Given the description of an element on the screen output the (x, y) to click on. 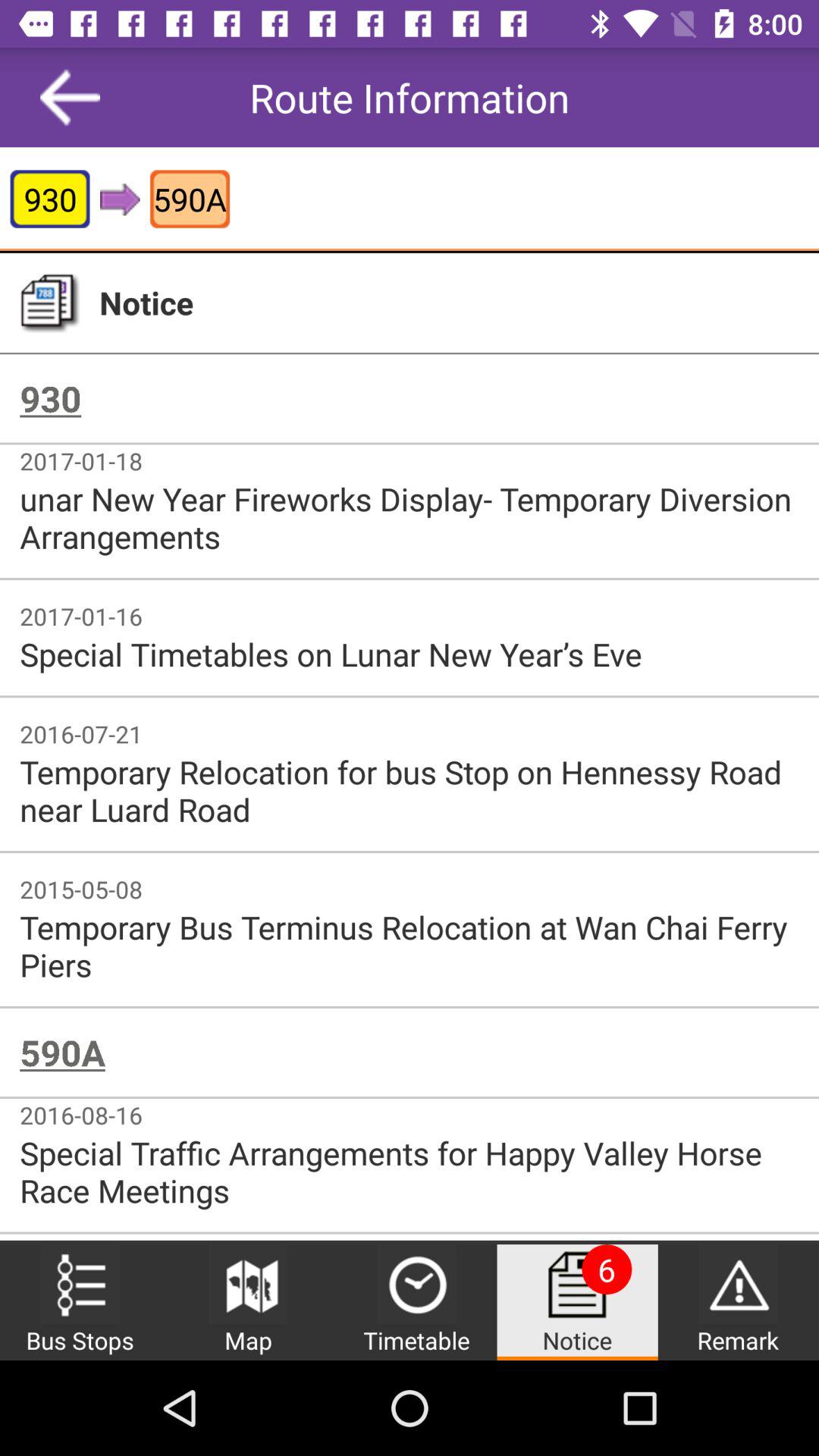
choose item next to route information (69, 97)
